Given the description of an element on the screen output the (x, y) to click on. 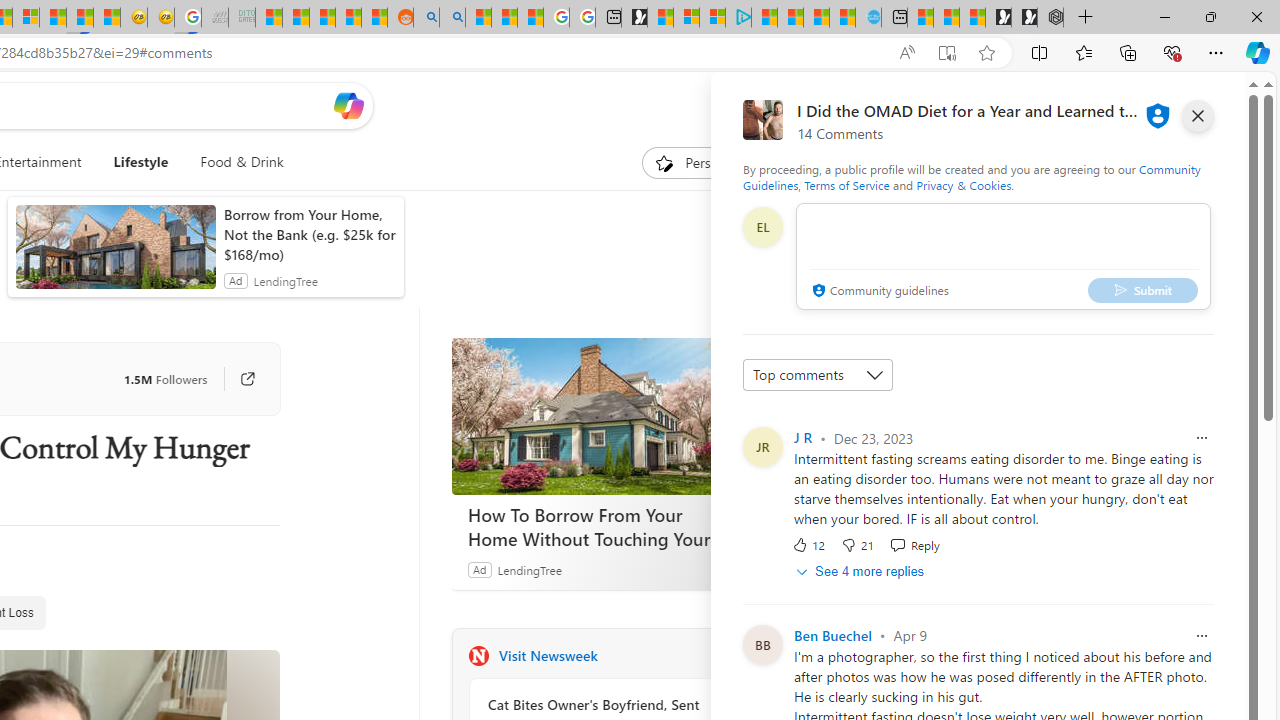
LendingTree (528, 569)
Reply Reply Comment (914, 544)
Newsweek (478, 655)
